Given the description of an element on the screen output the (x, y) to click on. 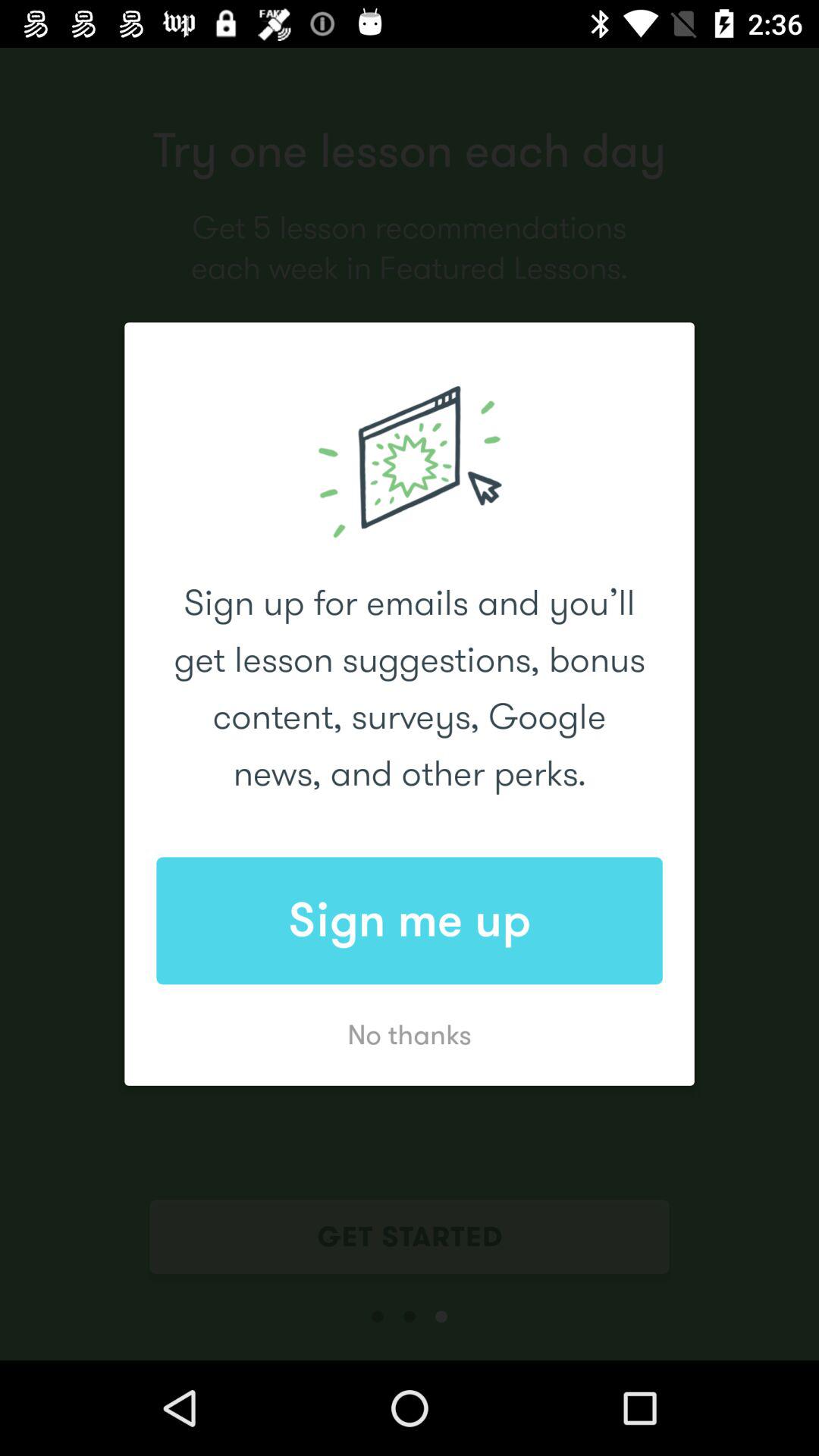
tap the no thanks icon (409, 1034)
